Given the description of an element on the screen output the (x, y) to click on. 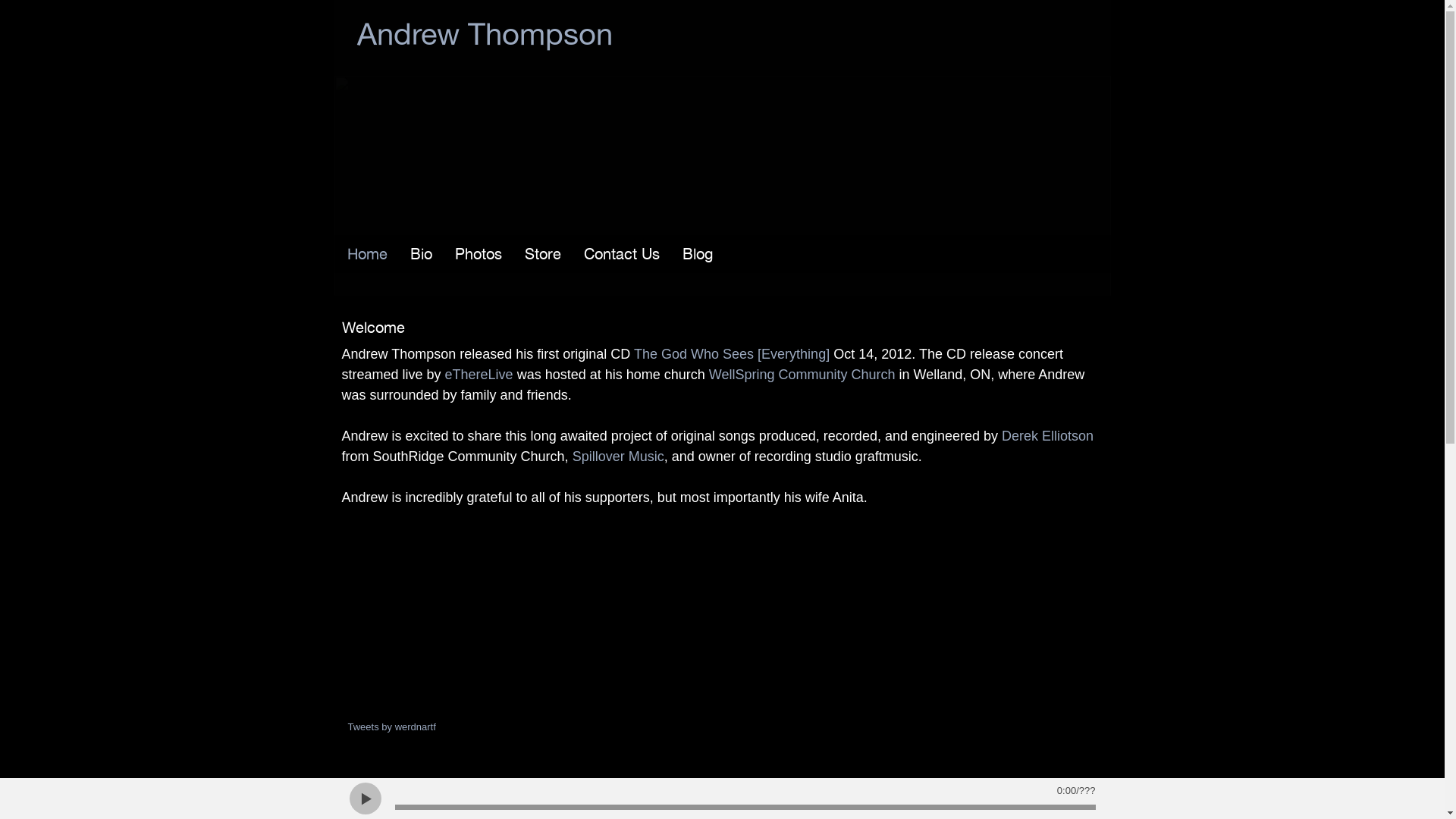
Play Element type: hover (364, 797)
WellSpring Community Church Element type: text (802, 374)
Bio Element type: text (420, 254)
Spillover Music Element type: text (618, 456)
Store Element type: text (542, 254)
The God Who Sees [Everything] Element type: text (731, 353)
eThereLive Element type: text (479, 374)
Derek Elliotson Element type: text (1047, 435)
Tweets by werdnartf Element type: text (391, 726)
Blog Element type: text (697, 254)
Contact Us Element type: text (621, 254)
Andrew Thompson Element type: text (483, 37)
Photos Element type: text (478, 254)
Home Element type: text (366, 254)
